Given the description of an element on the screen output the (x, y) to click on. 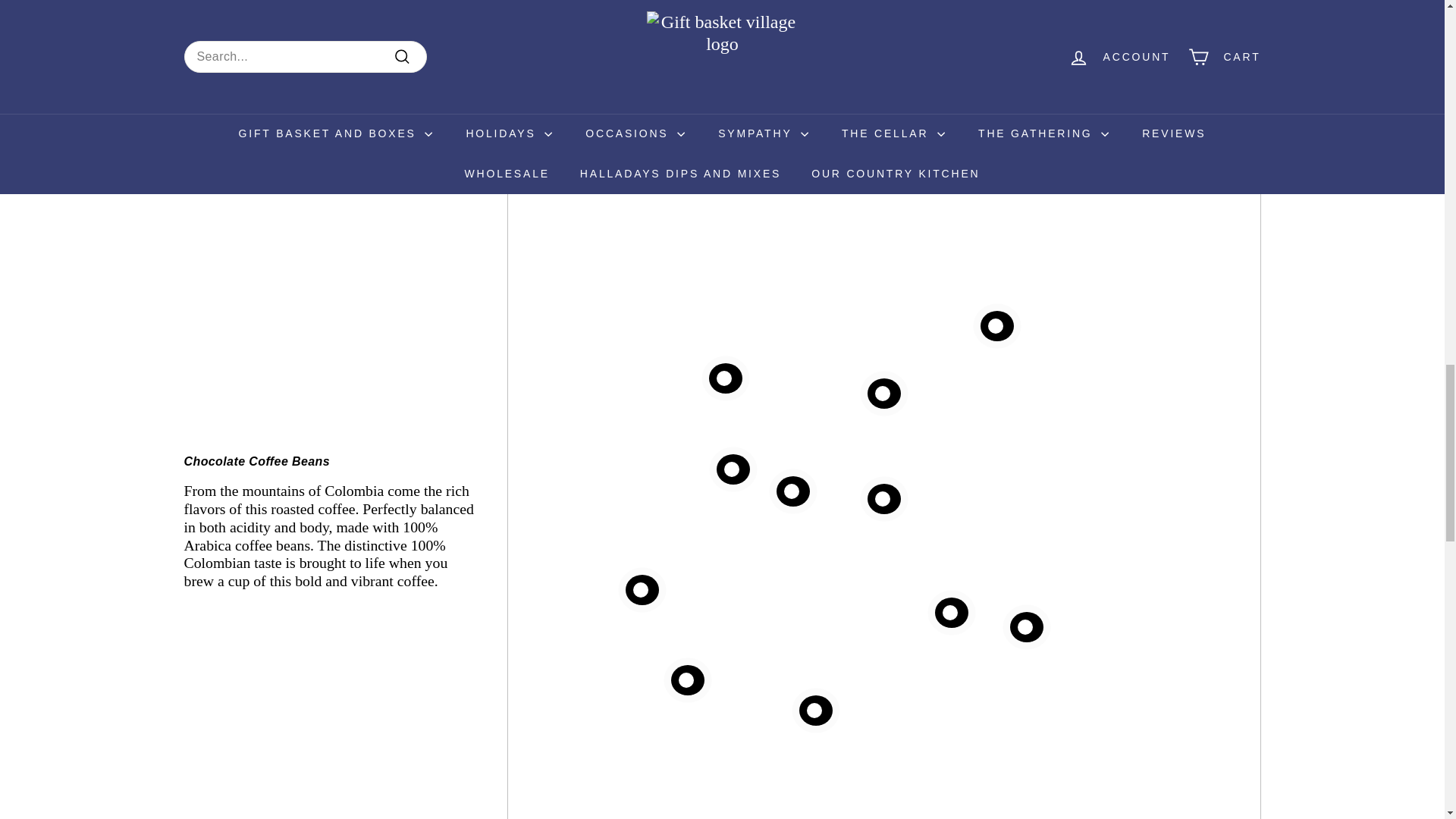
Share on Facebook (795, 13)
Tweet on Twitter (872, 13)
twitter (848, 14)
